Given the description of an element on the screen output the (x, y) to click on. 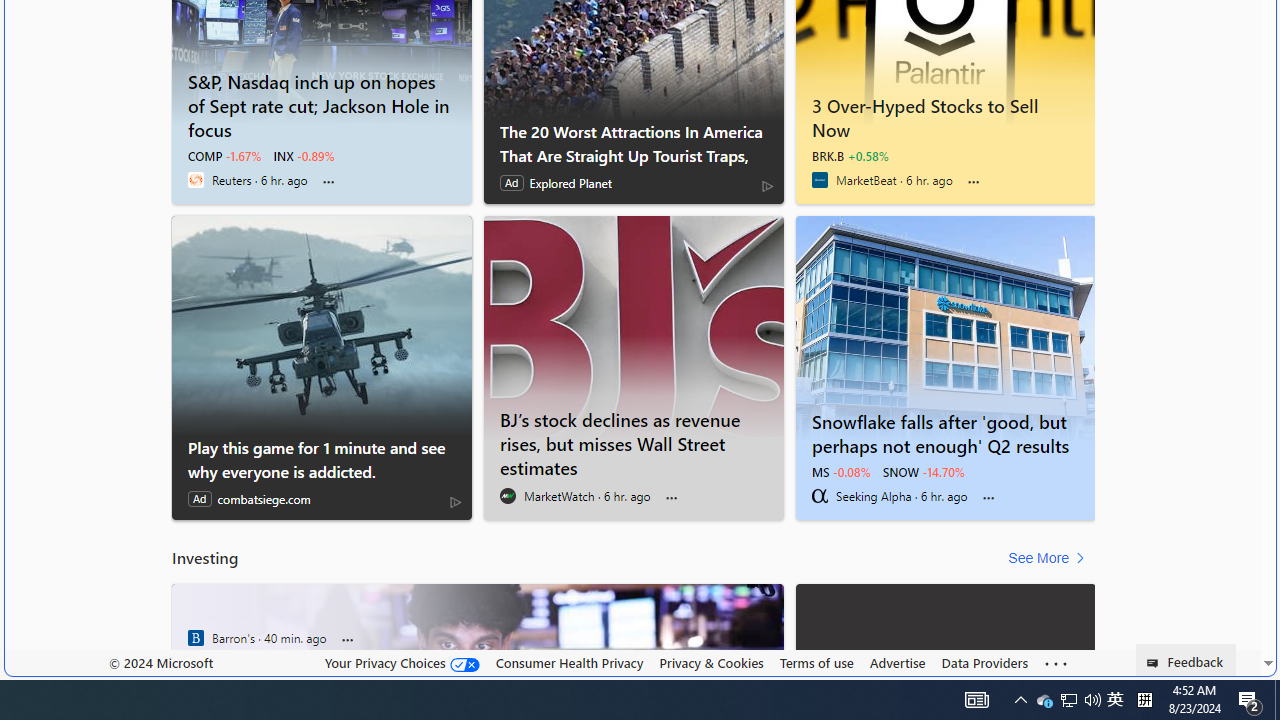
Class: feedback_link_icon-DS-EntryPoint1-1 (1156, 663)
Privacy & Cookies (711, 662)
Data Providers (983, 662)
Terms of use (816, 662)
COMP -1.67% (225, 156)
BRK.B +0.58% (850, 156)
Your Privacy Choices (401, 663)
INX -0.89% (303, 156)
Privacy & Cookies (711, 663)
See More (1049, 557)
